Given the description of an element on the screen output the (x, y) to click on. 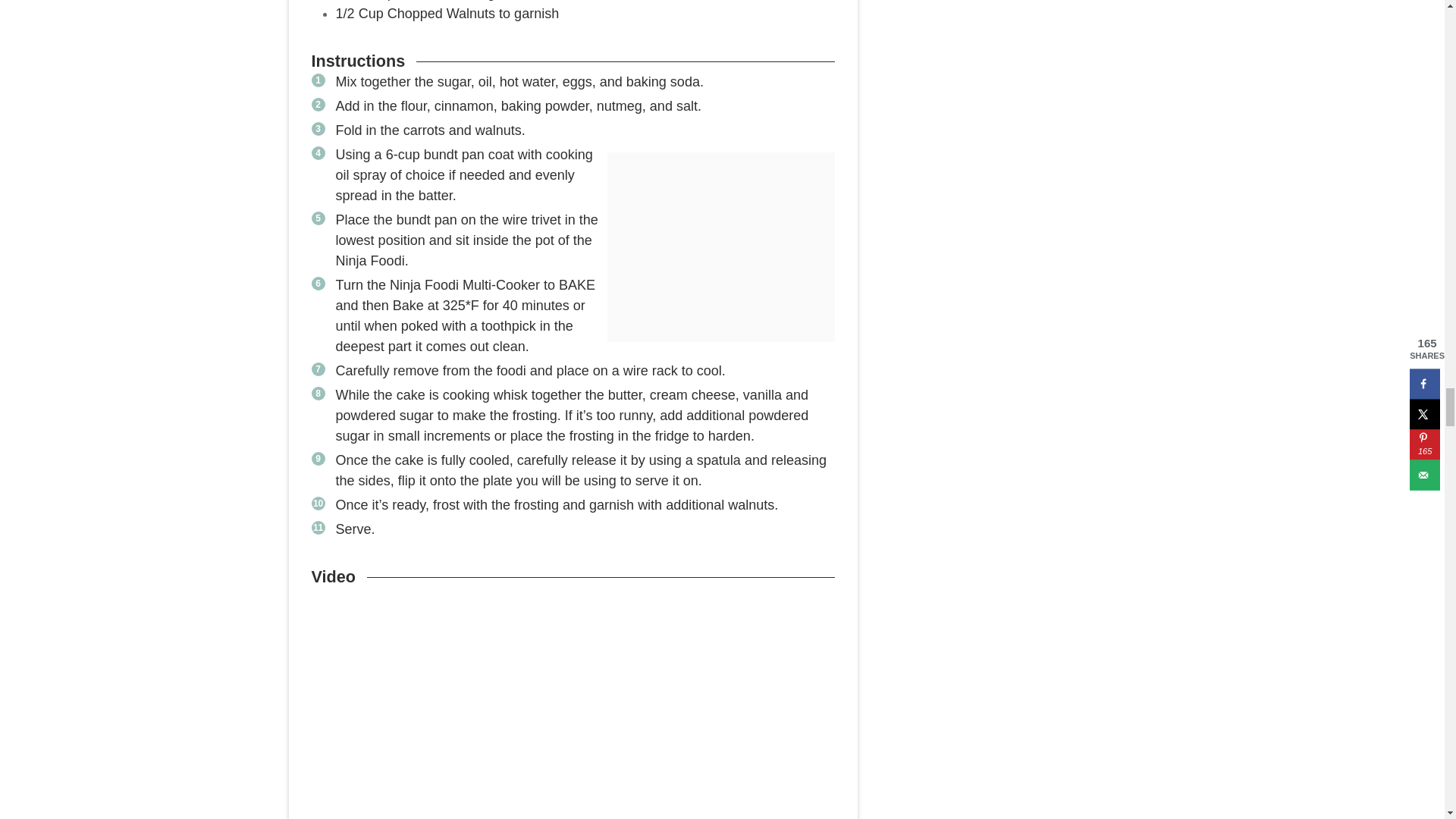
YouTube video player (572, 707)
